Given the description of an element on the screen output the (x, y) to click on. 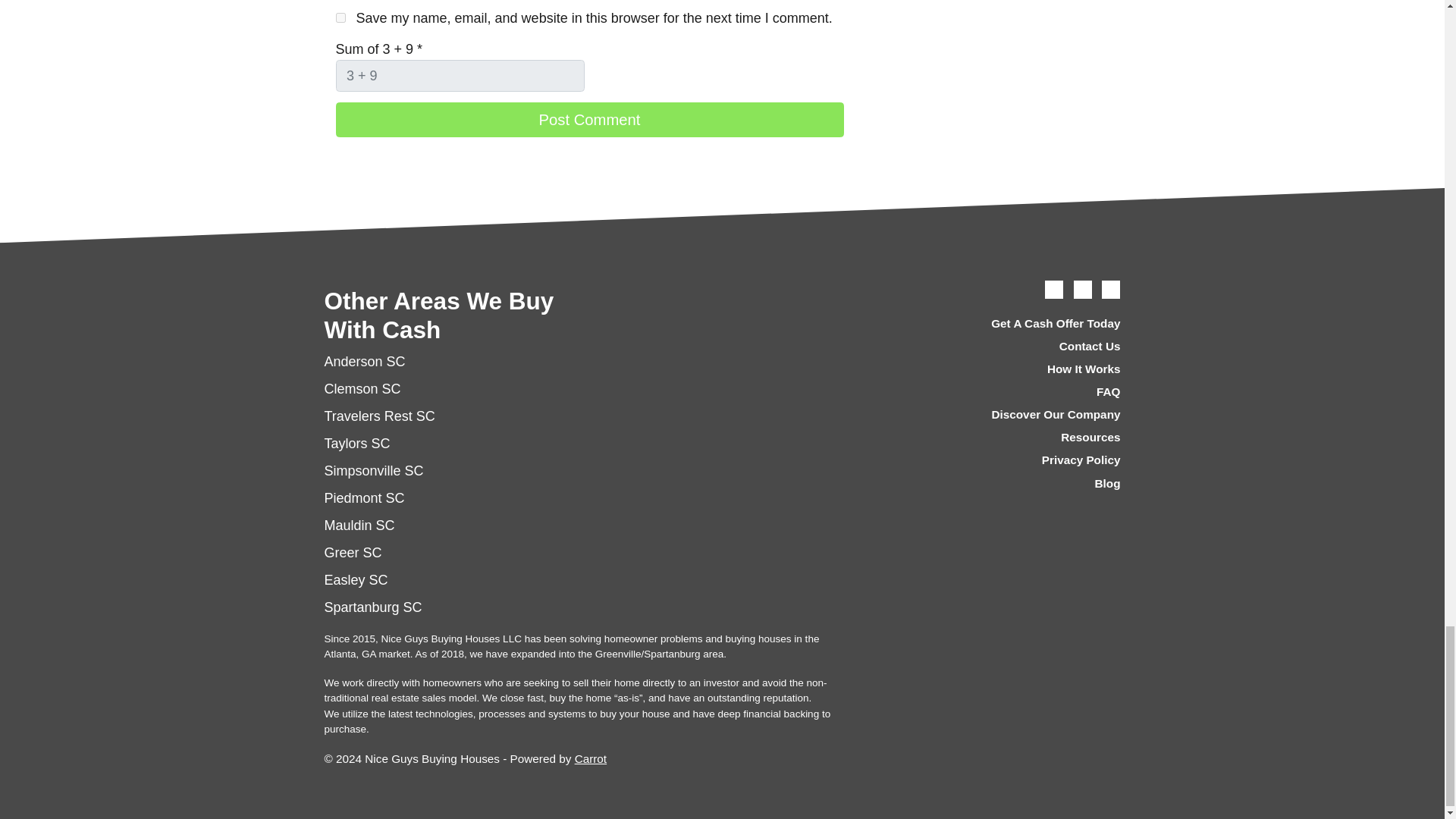
Anderson SC (365, 361)
Blog (995, 483)
How It Works (995, 368)
Discover Our Company (995, 415)
Privacy Policy (995, 460)
Facebook (1053, 289)
Clemson SC (362, 388)
yes (339, 17)
FAQ (995, 391)
Contact Us (995, 345)
Get A Cash Offer Today (995, 323)
Post Comment (588, 119)
Travelers Rest SC (379, 416)
Zillow (1110, 289)
YouTube (1083, 289)
